Given the description of an element on the screen output the (x, y) to click on. 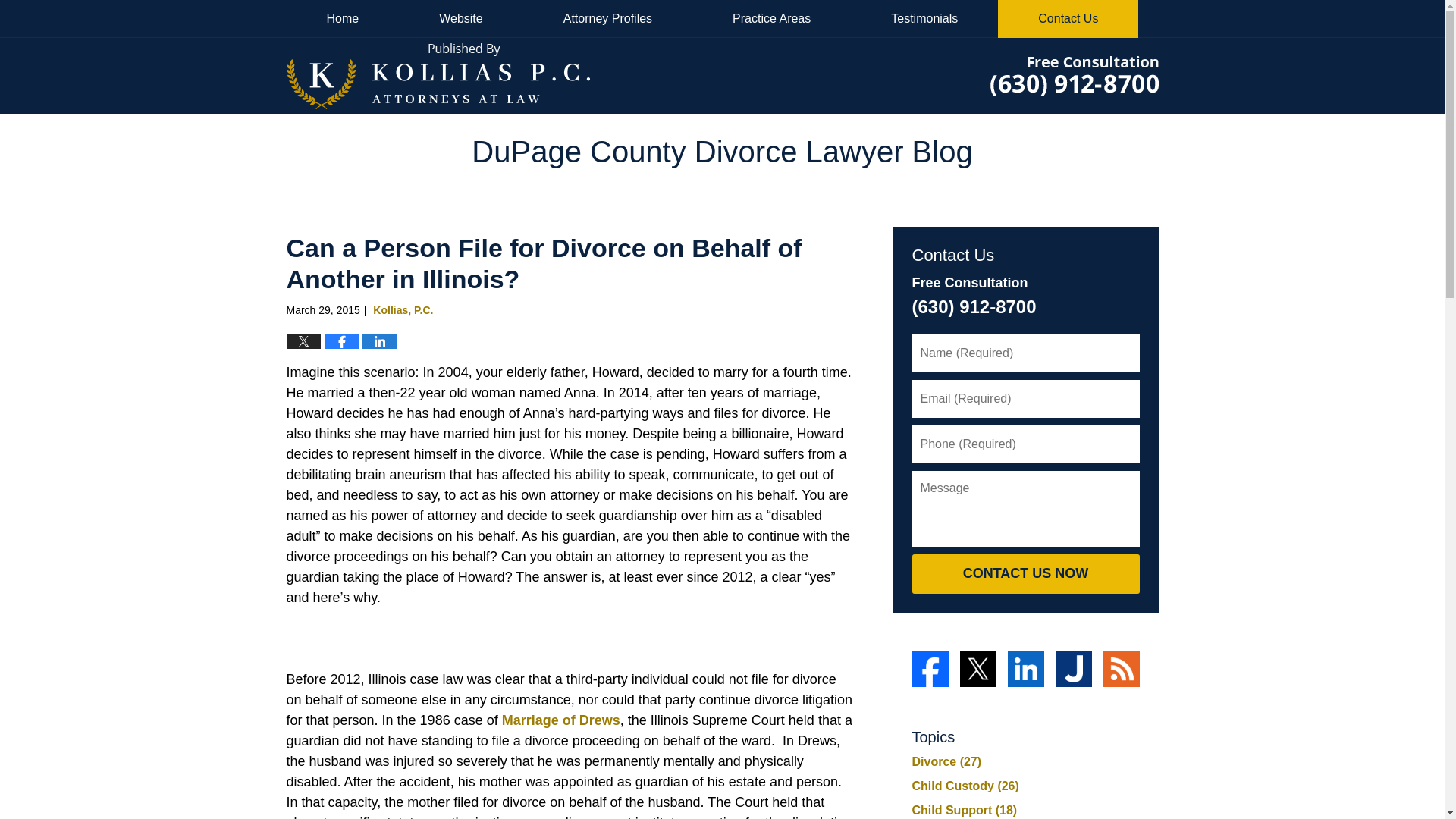
Justia (1073, 668)
Kollias, P.C. (402, 309)
Practice Areas (771, 18)
Twitter (977, 668)
CONTACT US NOW (1024, 573)
Marriage of Drews (561, 720)
DuPage County Divorce Lawyer Blog (437, 75)
Facebook (929, 668)
Contact Us (1067, 18)
Website (460, 18)
